Given the description of an element on the screen output the (x, y) to click on. 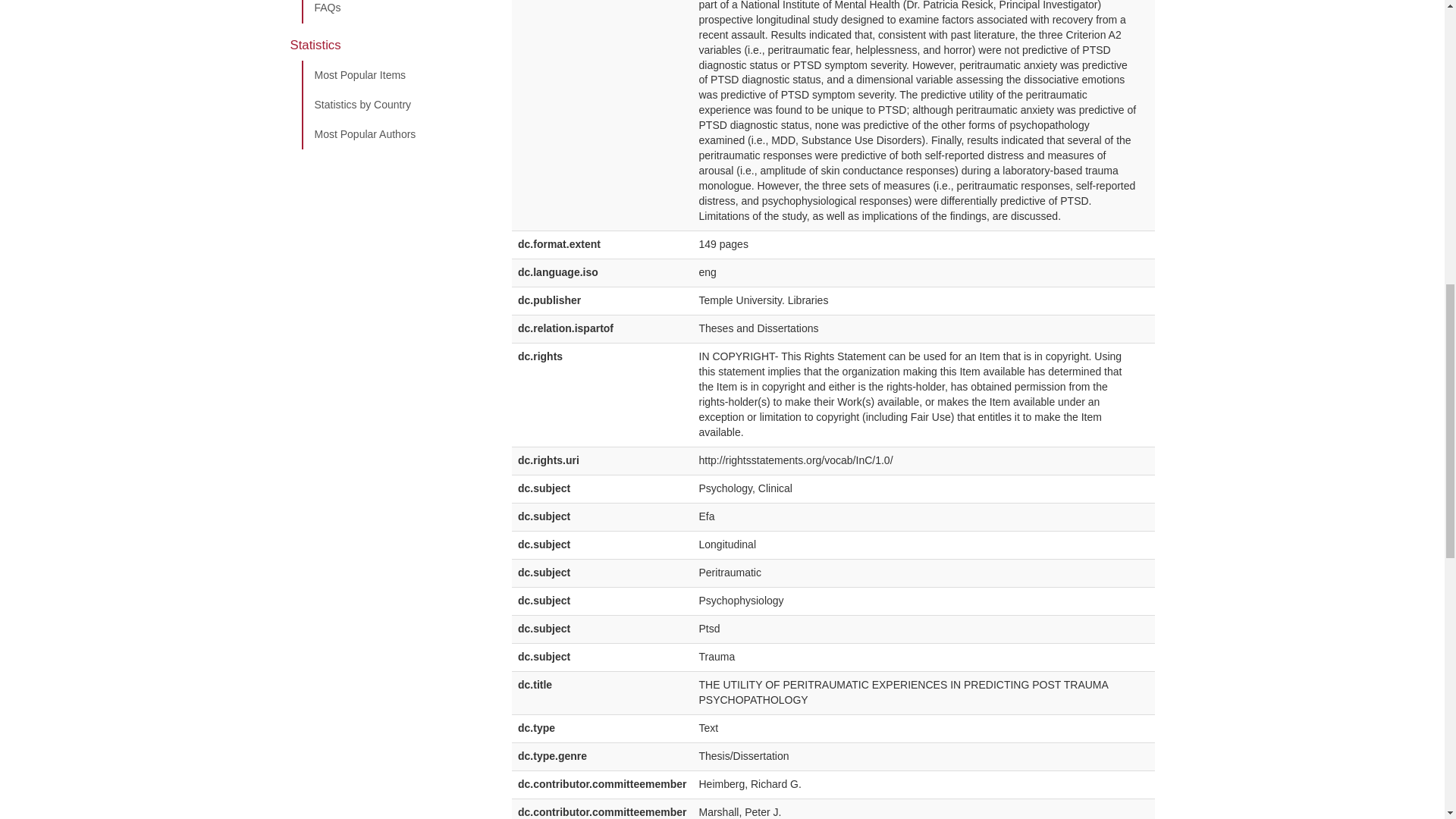
FAQs (395, 11)
Most Popular Items (395, 75)
Most Popular Authors (395, 134)
Statistics by Country (395, 105)
